Given the description of an element on the screen output the (x, y) to click on. 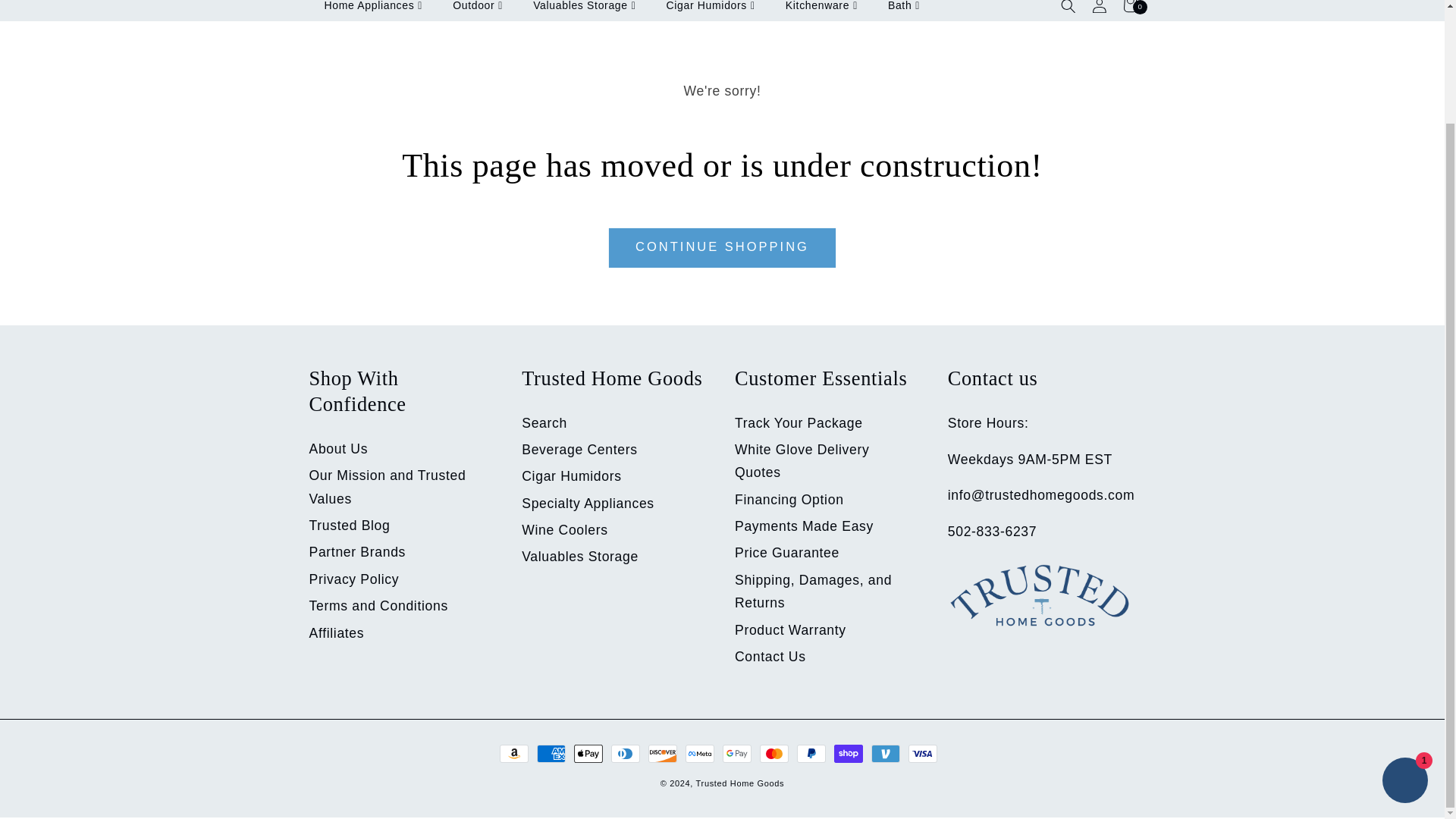
Shopify online store chat (1404, 647)
